Given the description of an element on the screen output the (x, y) to click on. 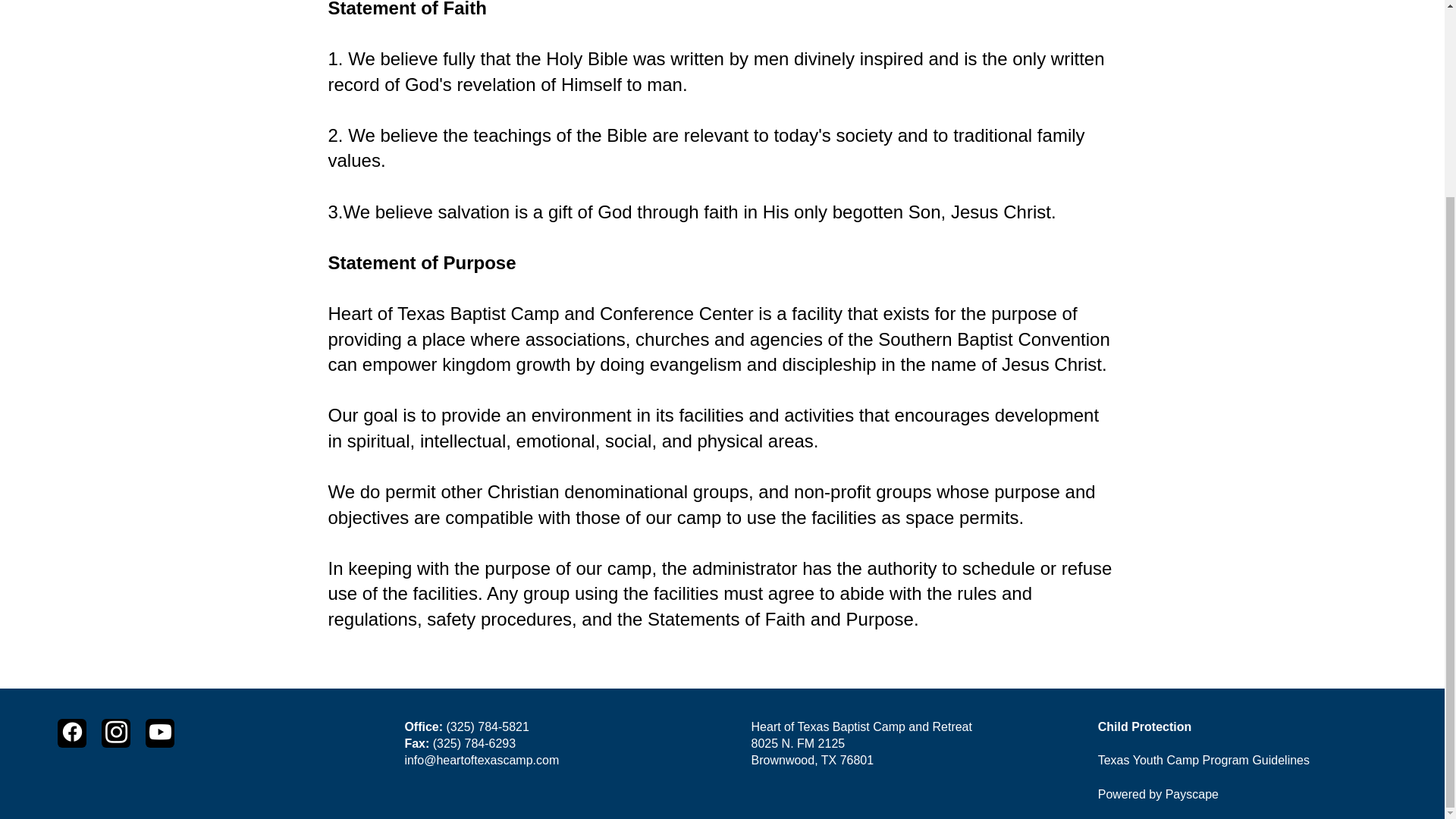
Powered by Payscape (1157, 793)
Texas Youth Camp Program Guidelines (1202, 759)
Child Protection (1144, 726)
